Given the description of an element on the screen output the (x, y) to click on. 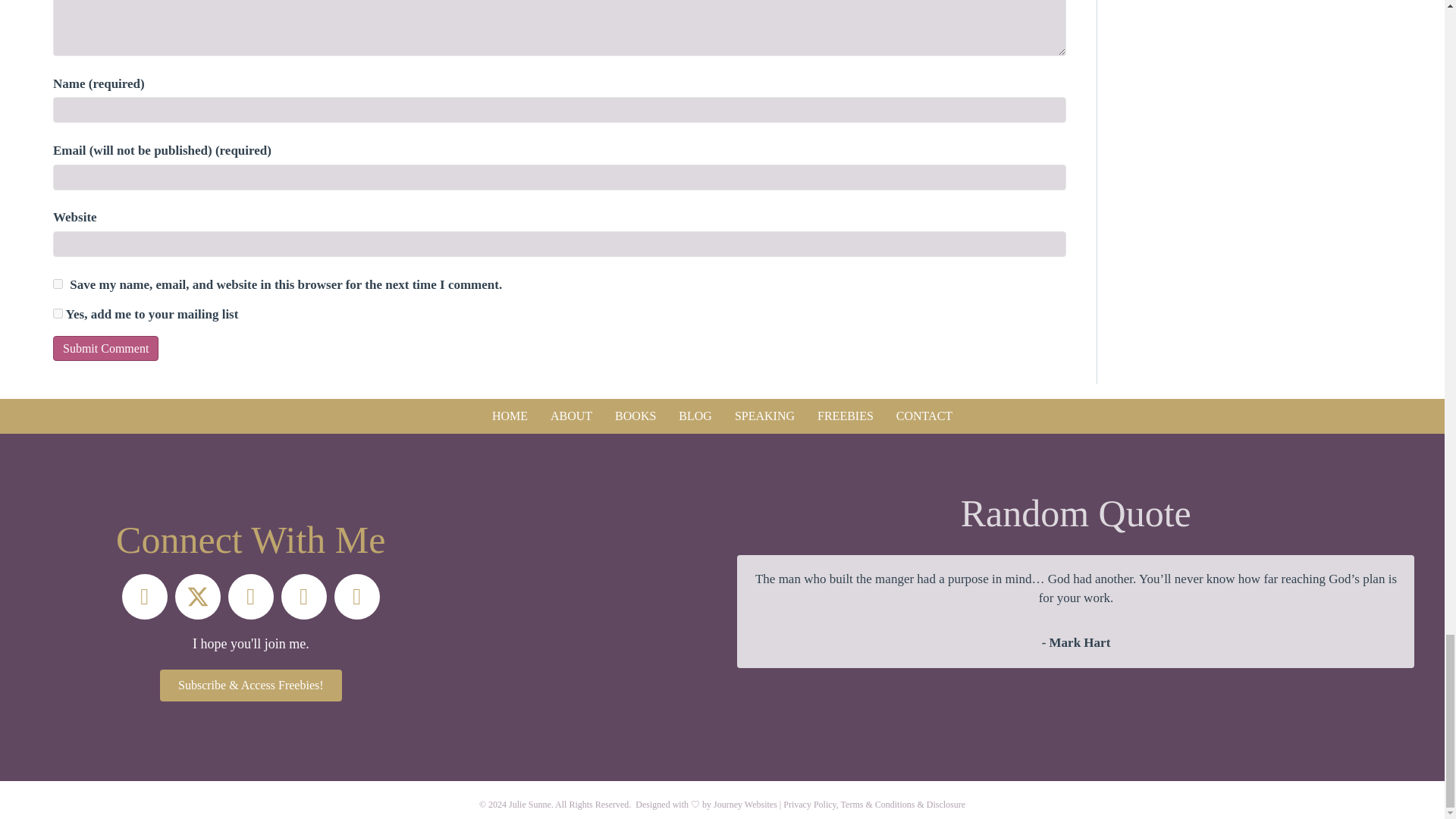
Submit Comment (105, 348)
LinkedIn (357, 596)
Facebook (144, 596)
Instagram (250, 596)
Submit Comment (105, 348)
1 (57, 313)
Pinterest (303, 596)
yes (57, 284)
